Given the description of an element on the screen output the (x, y) to click on. 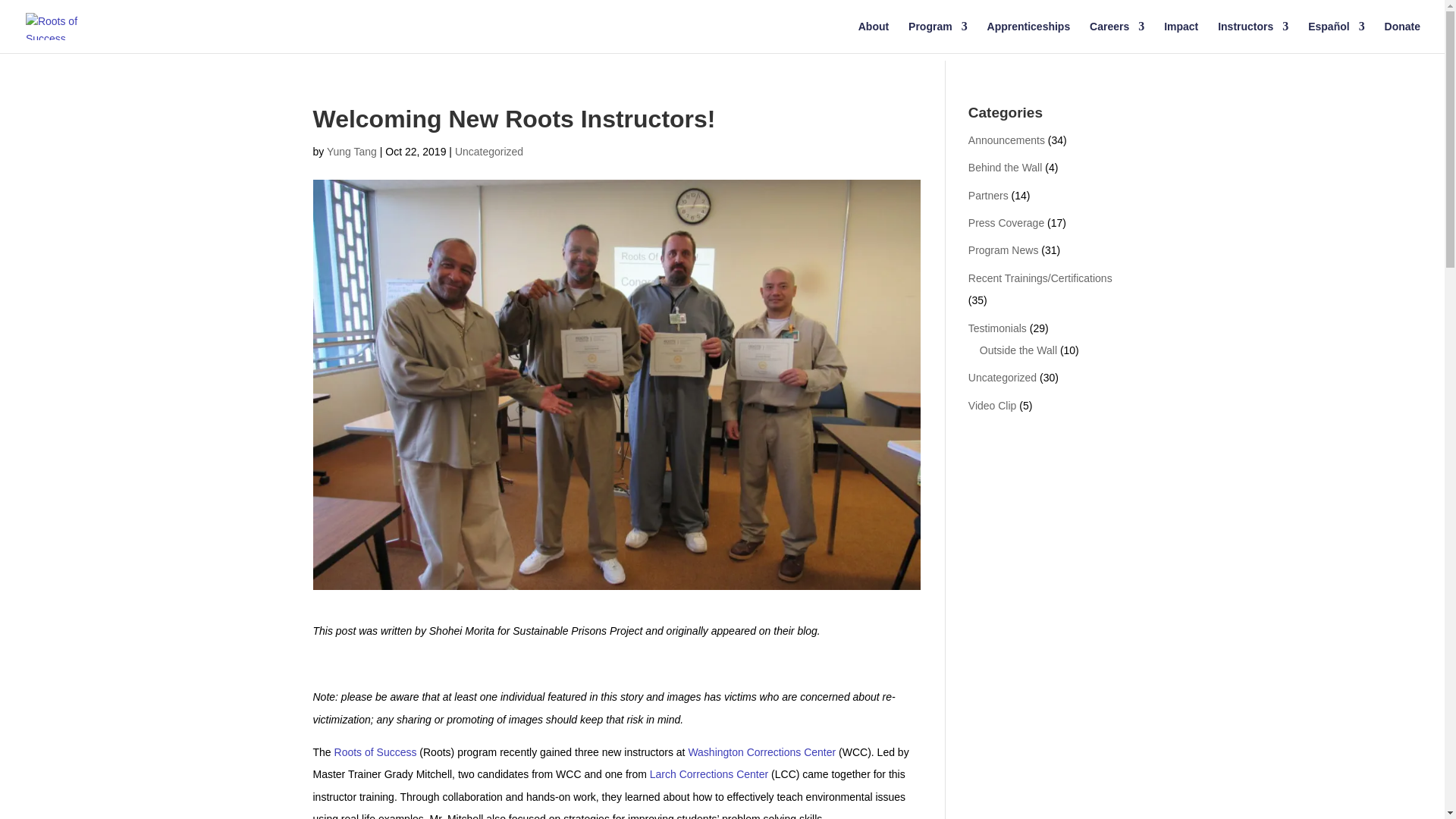
Uncategorized (488, 151)
Posts by Yung Tang (351, 151)
Yung Tang (351, 151)
Press Coverage (1005, 223)
Larch Corrections Center (708, 774)
Instructors (1252, 37)
About (873, 37)
Testimonials (997, 328)
Behind the Wall (1005, 167)
Uncategorized (1002, 377)
